Given the description of an element on the screen output the (x, y) to click on. 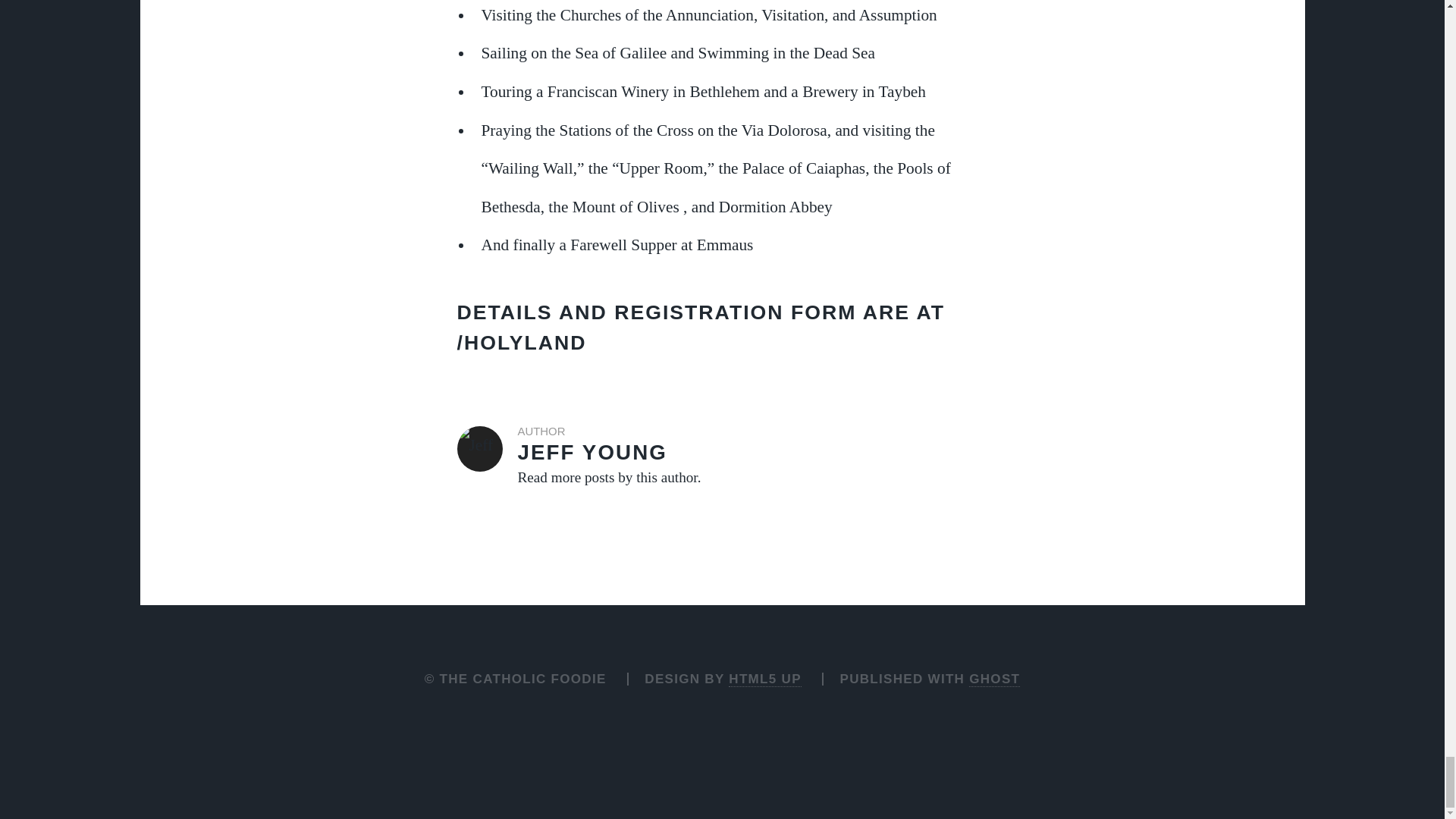
HTML5 UP (764, 679)
GHOST (722, 457)
